Given the description of an element on the screen output the (x, y) to click on. 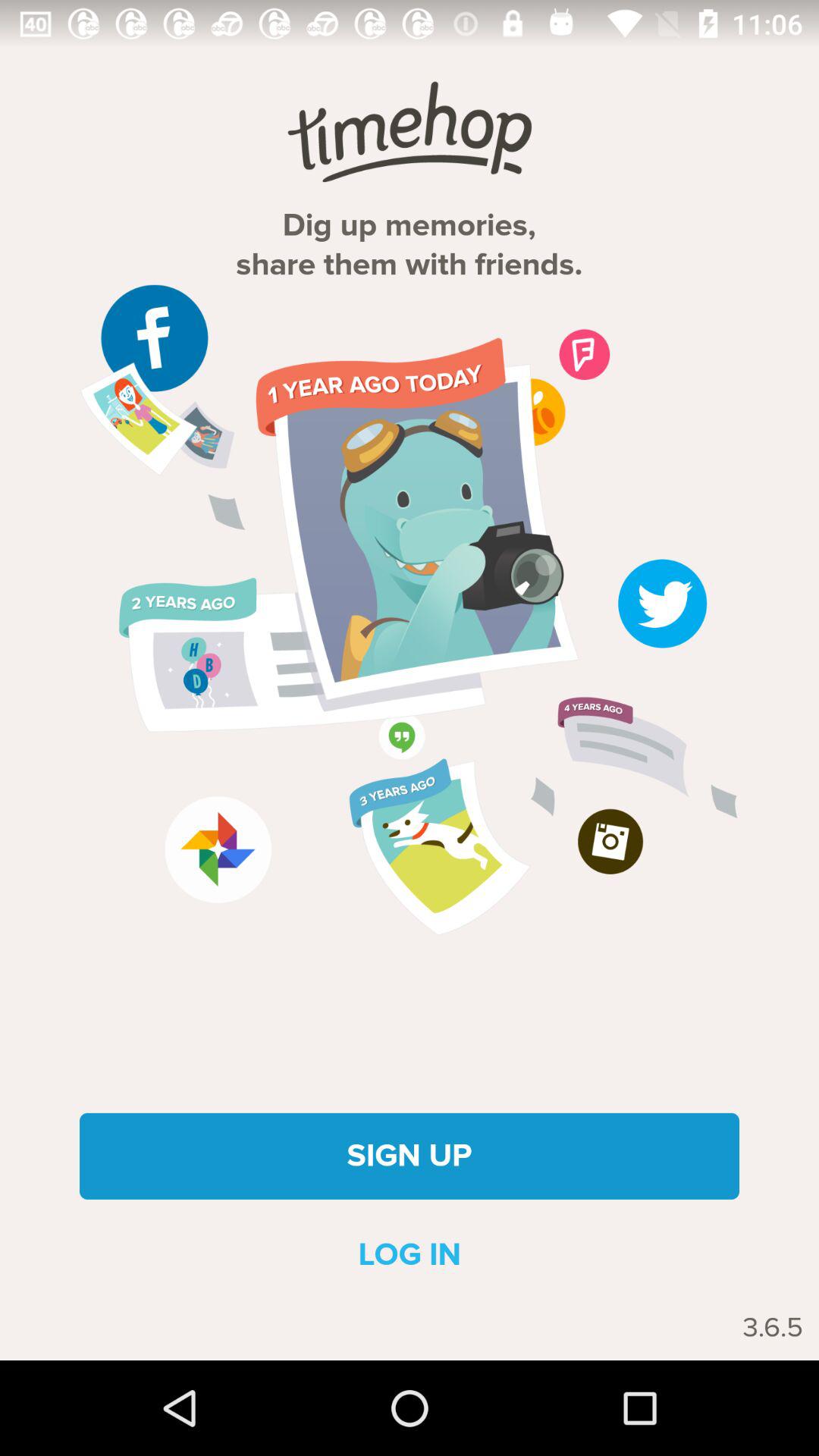
tap the icon above 3.6.5 (409, 1255)
